Given the description of an element on the screen output the (x, y) to click on. 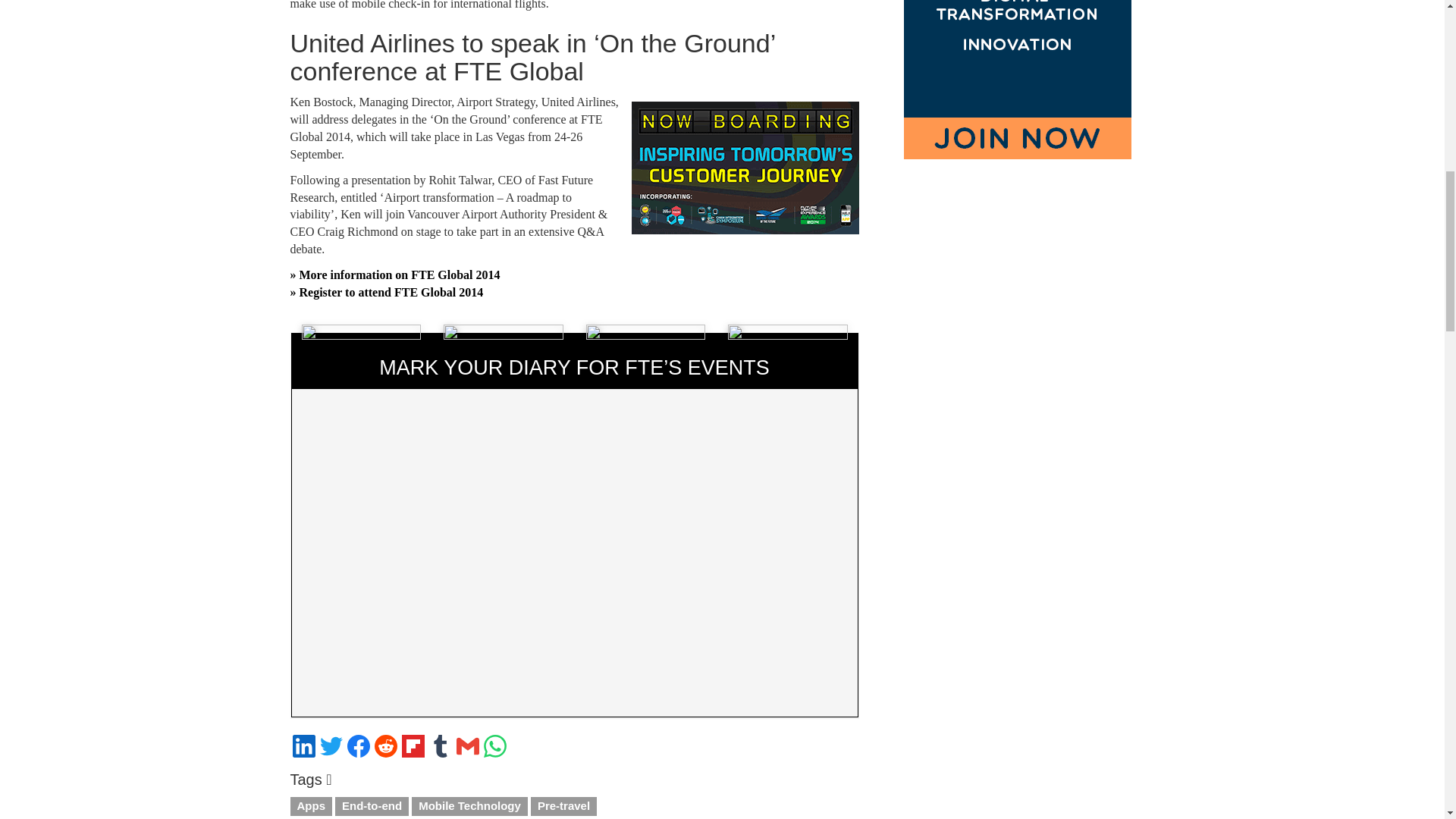
End-to-end (371, 805)
Mobile Technology (469, 805)
Pre-travel (563, 805)
Apps (310, 805)
